Given the description of an element on the screen output the (x, y) to click on. 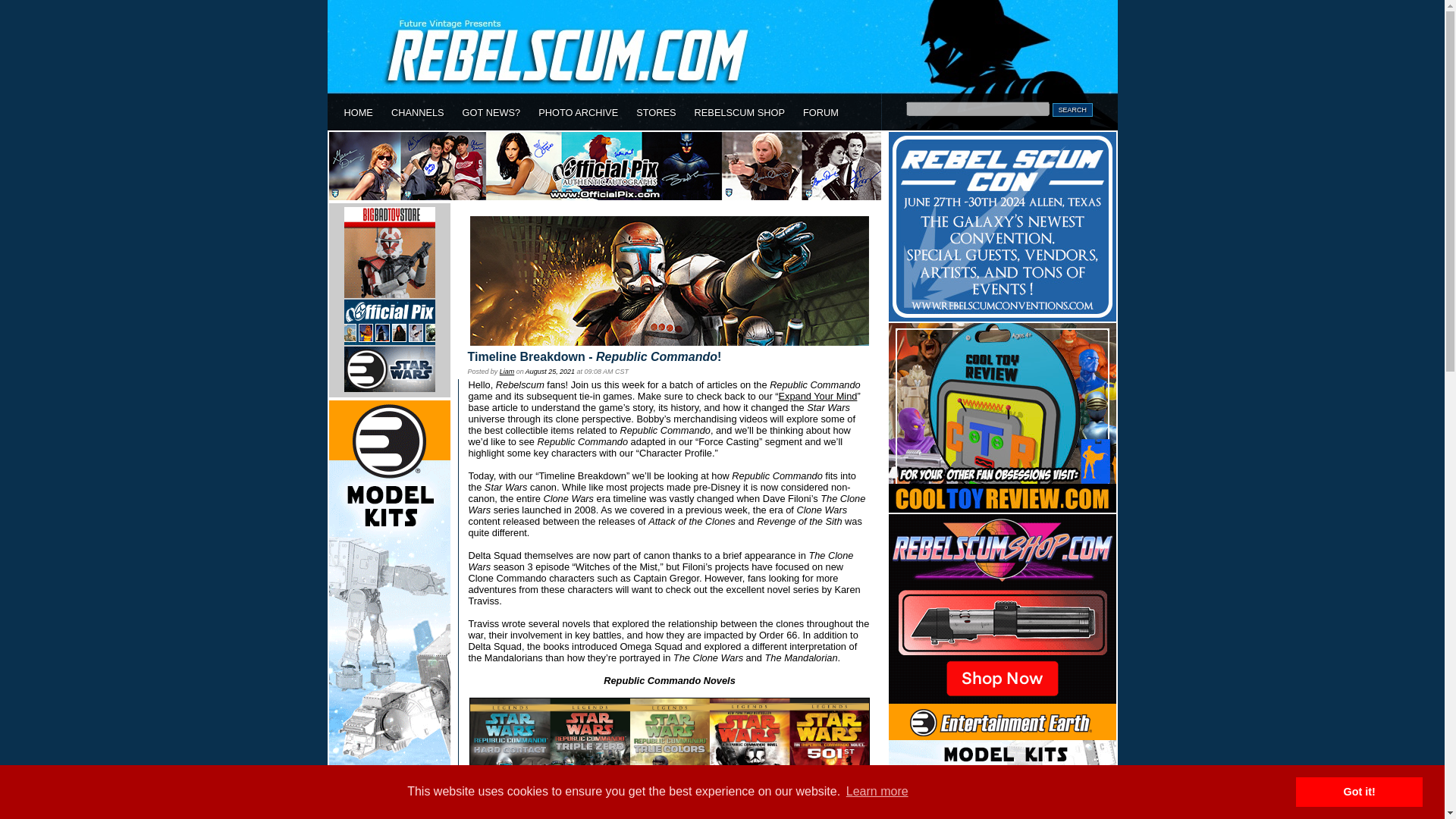
Got it! (1358, 791)
HOME (357, 112)
SEARCH (1072, 110)
CHANNELS (417, 112)
Learn more (877, 791)
